Given the description of an element on the screen output the (x, y) to click on. 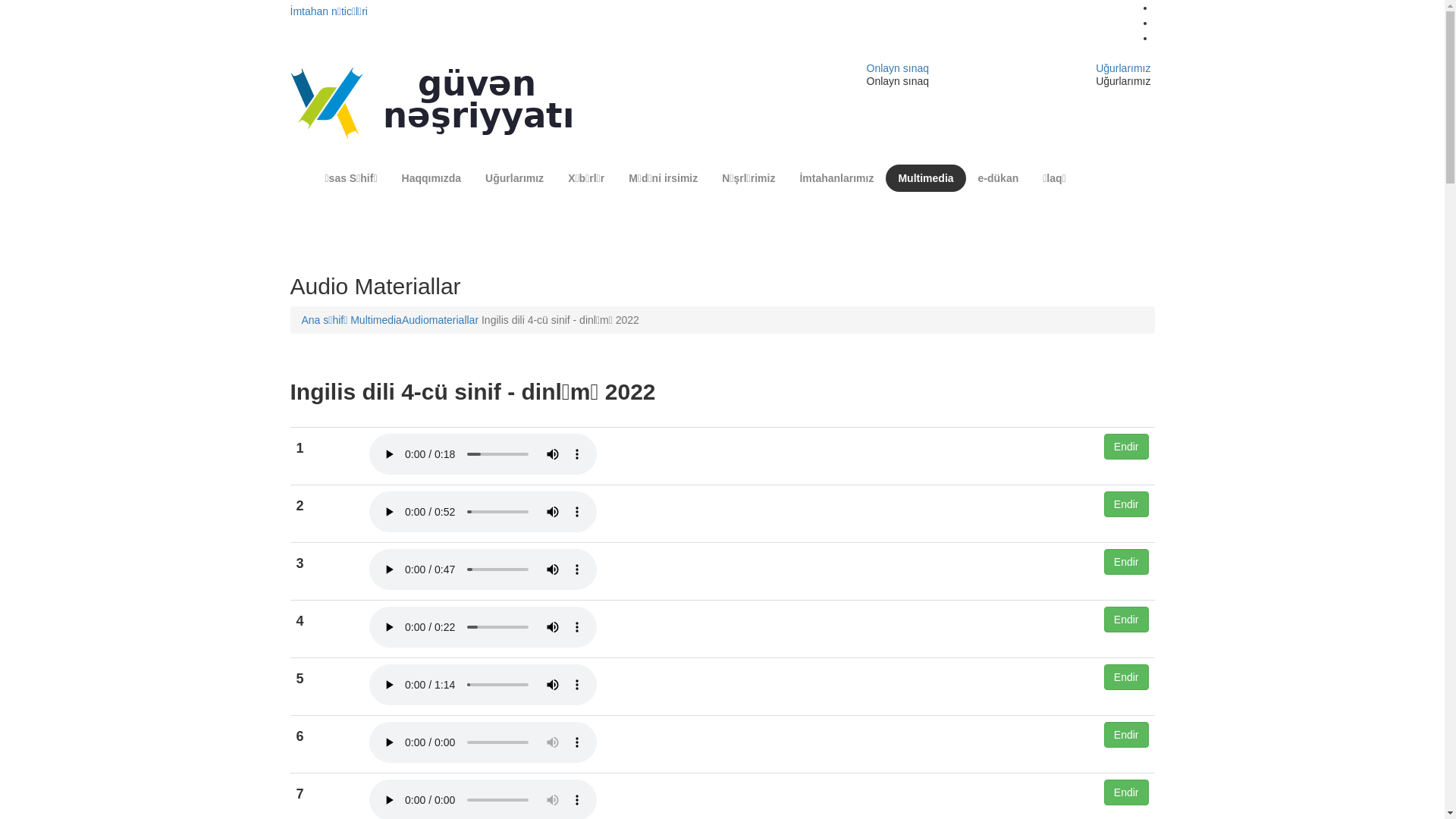
Endir Element type: text (1126, 504)
Endir Element type: text (1126, 446)
Endir Element type: text (1126, 734)
Endir Element type: text (1126, 792)
Multimedia Element type: text (375, 319)
Endir Element type: text (1126, 619)
Endir Element type: text (1126, 561)
Audiomateriallar Element type: text (439, 319)
Multimedia Element type: text (925, 177)
Endir Element type: text (1126, 677)
